Given the description of an element on the screen output the (x, y) to click on. 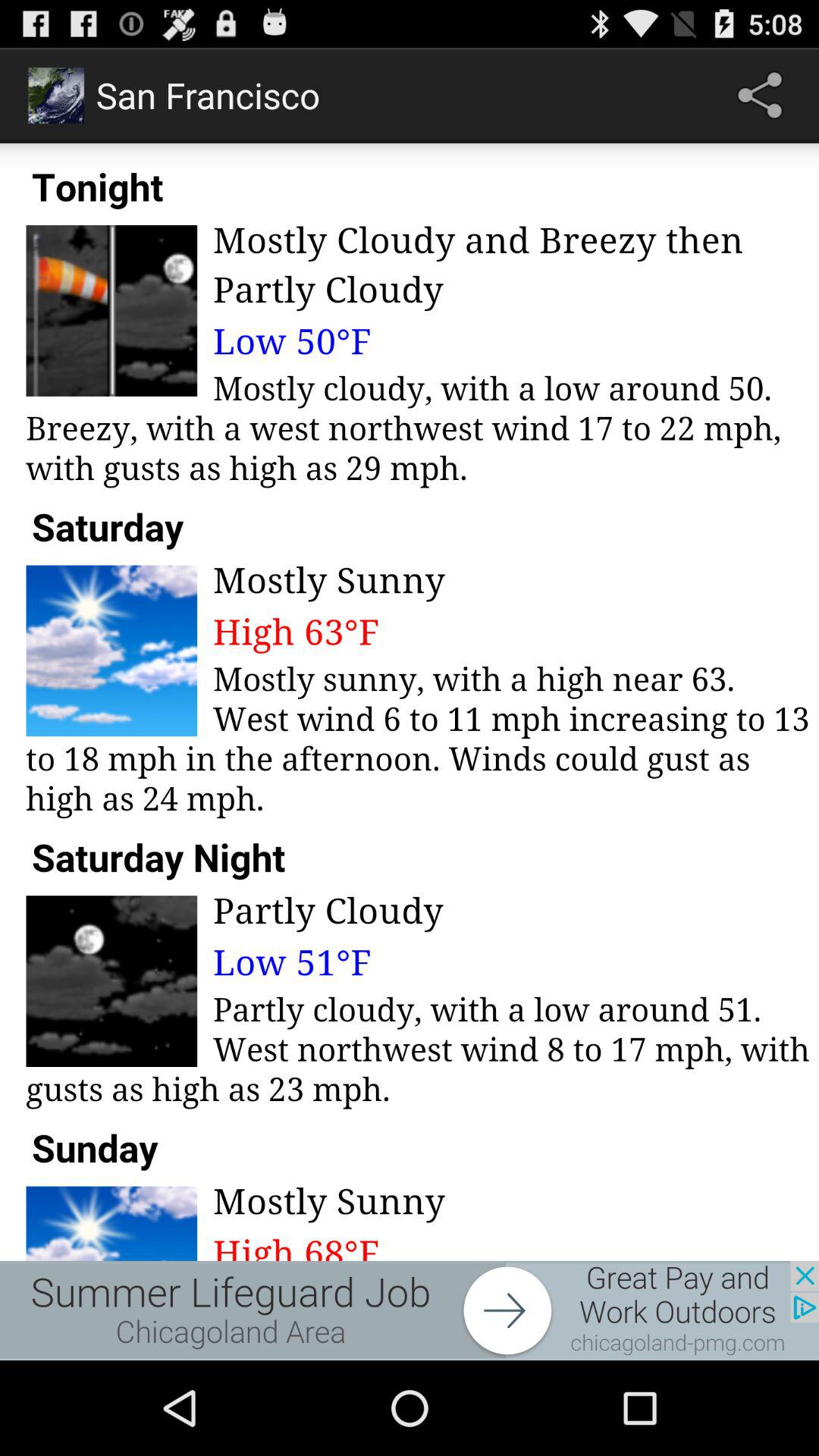
learn about this product (409, 1310)
